Given the description of an element on the screen output the (x, y) to click on. 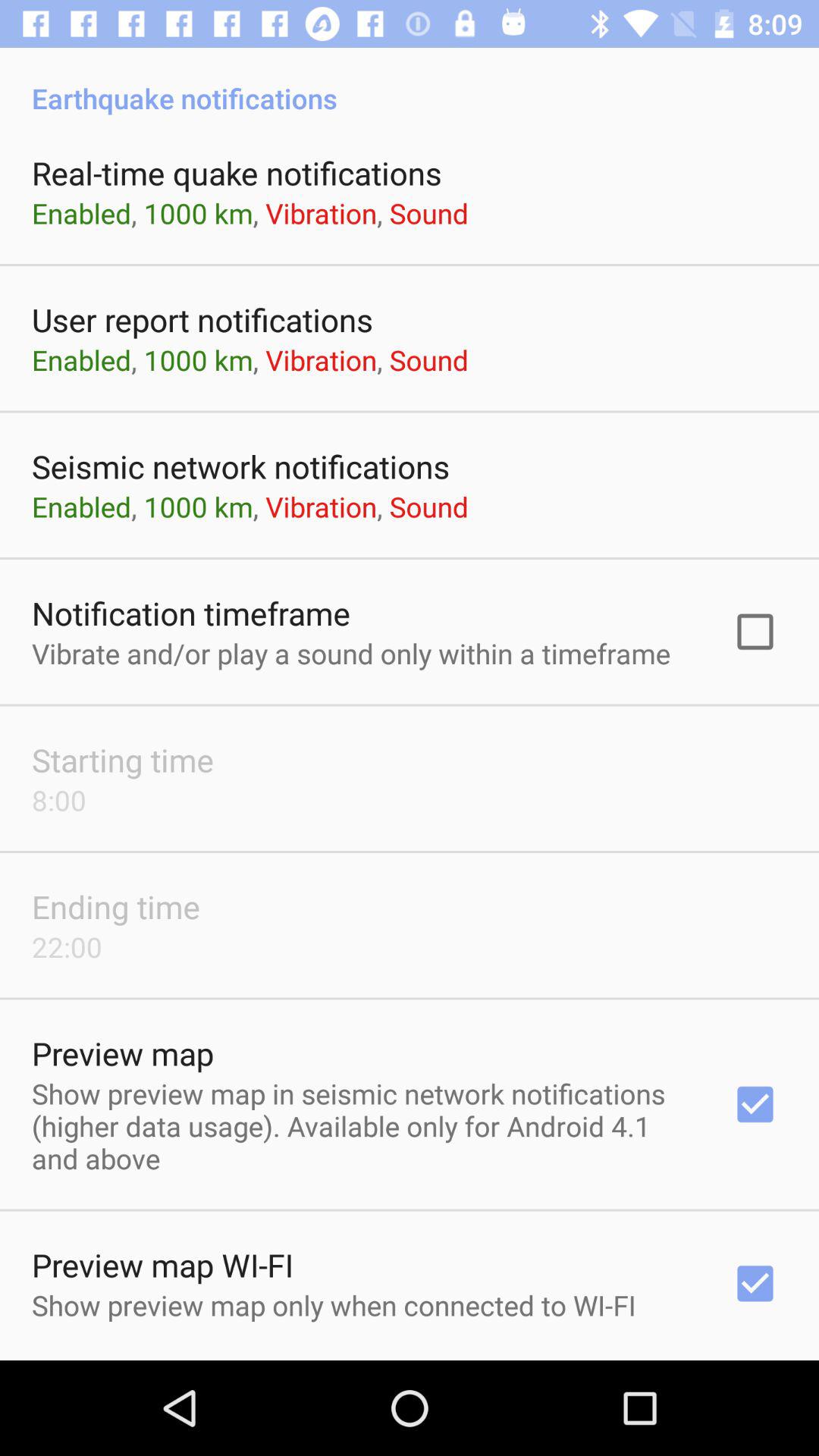
select icon above starting time app (350, 653)
